Given the description of an element on the screen output the (x, y) to click on. 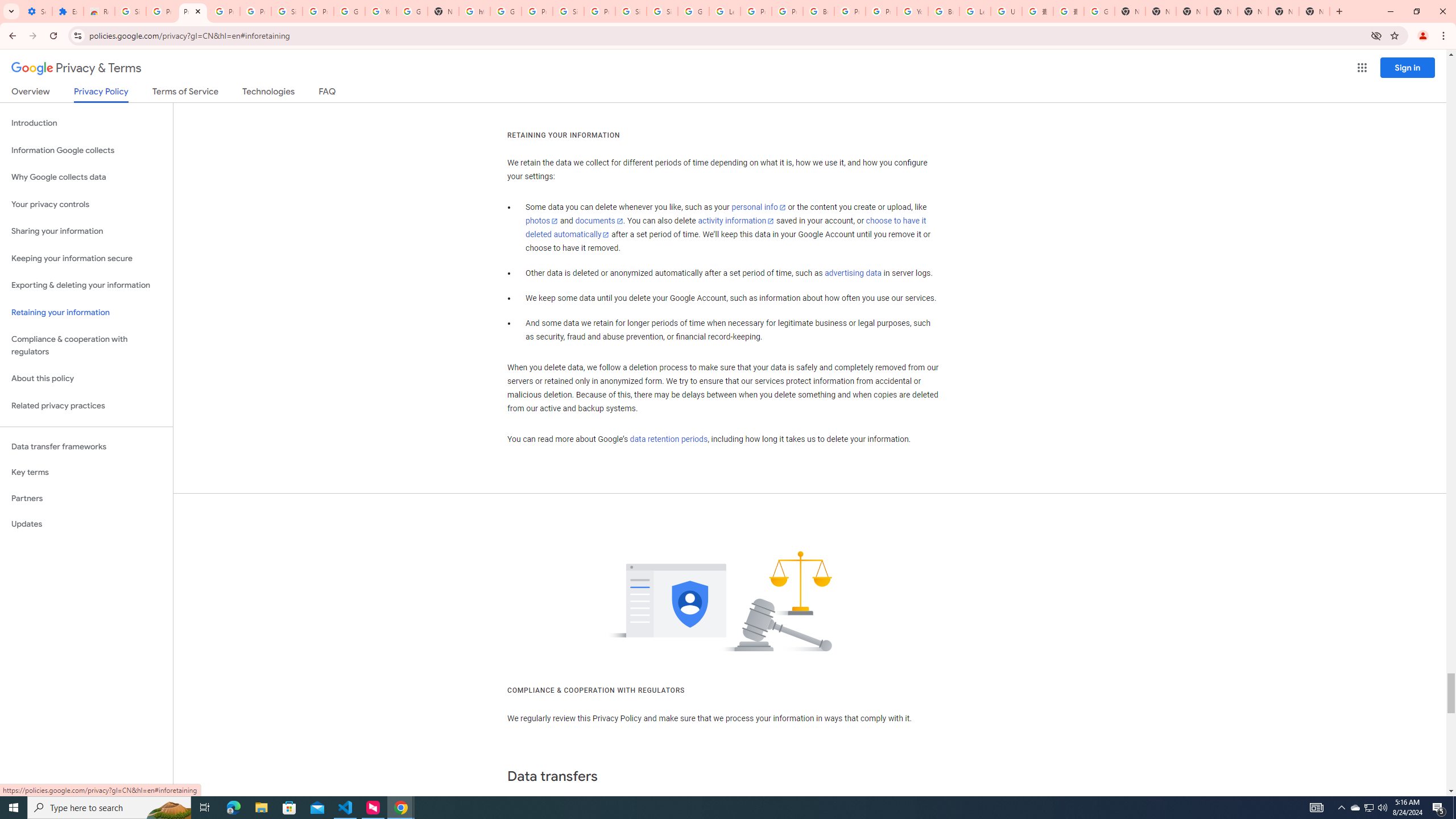
Related privacy practices (86, 405)
Keeping your information secure (86, 258)
About this policy (86, 379)
choose to have it deleted automatically (725, 227)
